Given the description of an element on the screen output the (x, y) to click on. 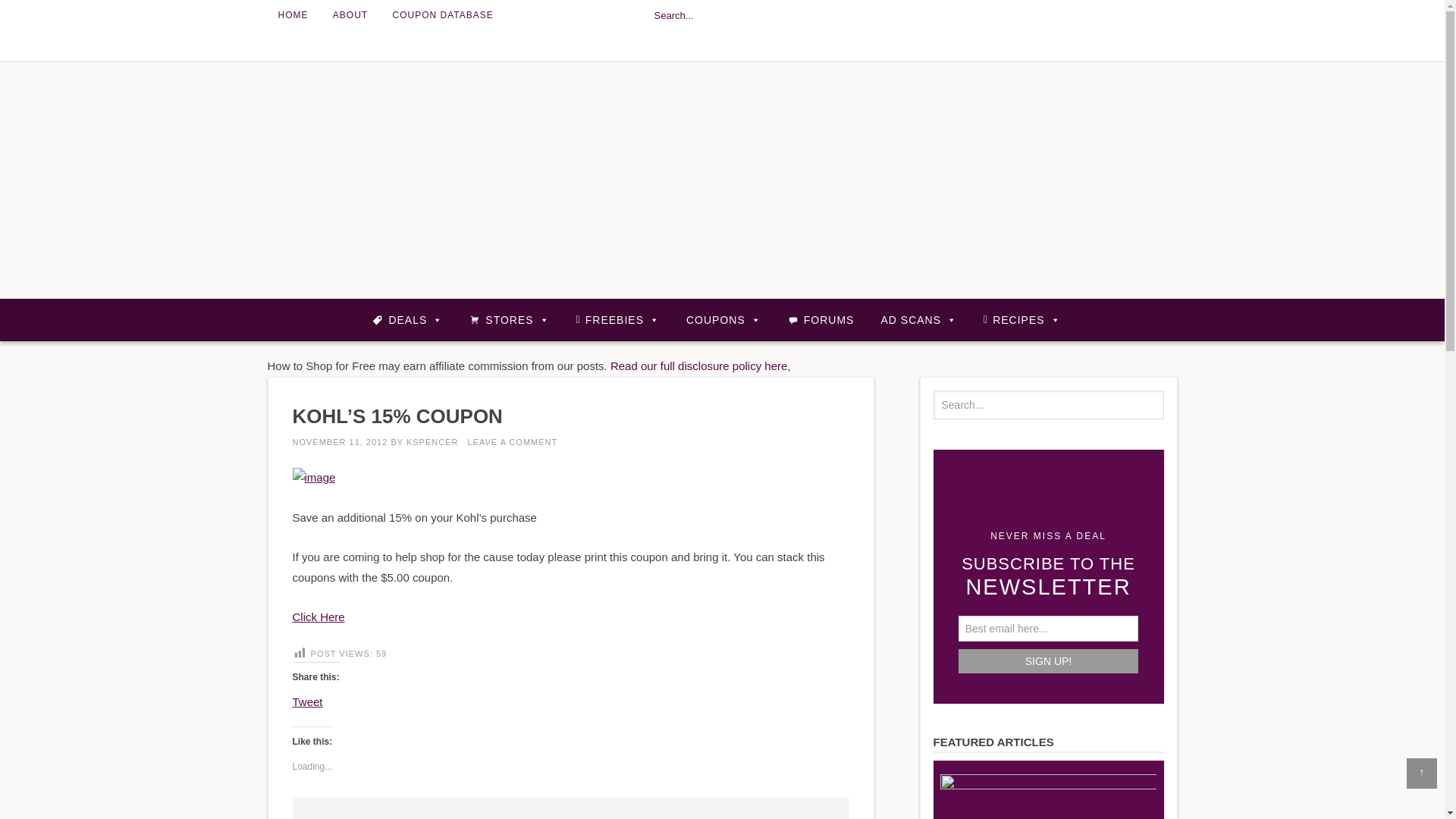
FREEBIES (617, 319)
STORES (508, 319)
HOME (292, 15)
HOW TO SHOP FOR FREE (722, 180)
ABOUT (349, 15)
DEALS (407, 319)
Sign Up! (1048, 661)
COUPON DATABASE (442, 15)
